Given the description of an element on the screen output the (x, y) to click on. 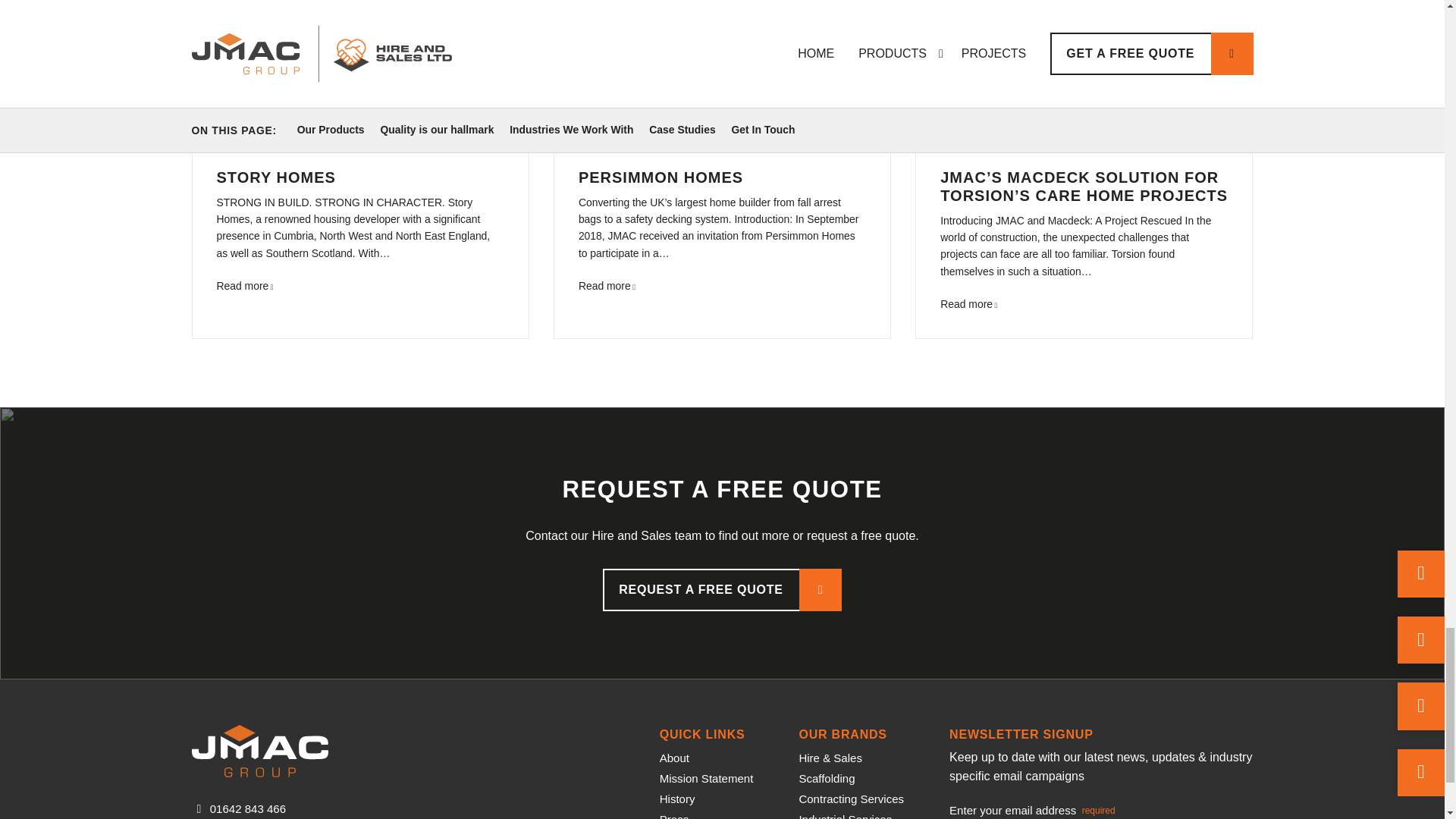
Read more (968, 304)
REQUEST A FREE QUOTE (721, 589)
Story Homes (244, 285)
PERSIMMON HOMES (660, 176)
Read more (244, 285)
Persimmon Homes (606, 285)
01642 843 466 (247, 808)
Read more (606, 285)
STORY HOMES (276, 176)
About (673, 757)
